Given the description of an element on the screen output the (x, y) to click on. 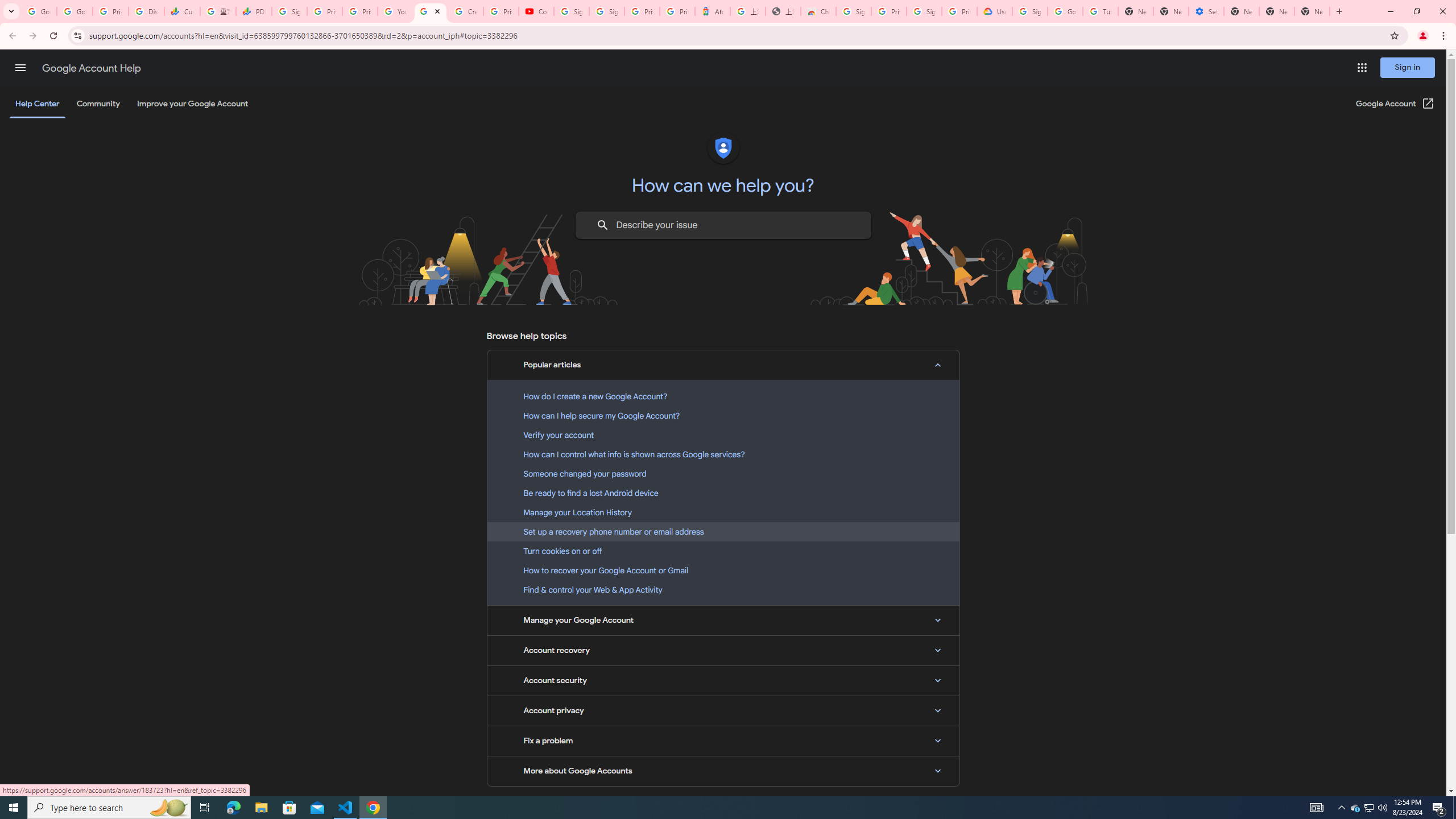
Fix a problem (722, 740)
Sign in - Google Accounts (605, 11)
Google Workspace Admin Community (39, 11)
YouTube (394, 11)
How do I create a new Google Account? (722, 396)
Google Account (Open in a new window) (1395, 103)
